Given the description of an element on the screen output the (x, y) to click on. 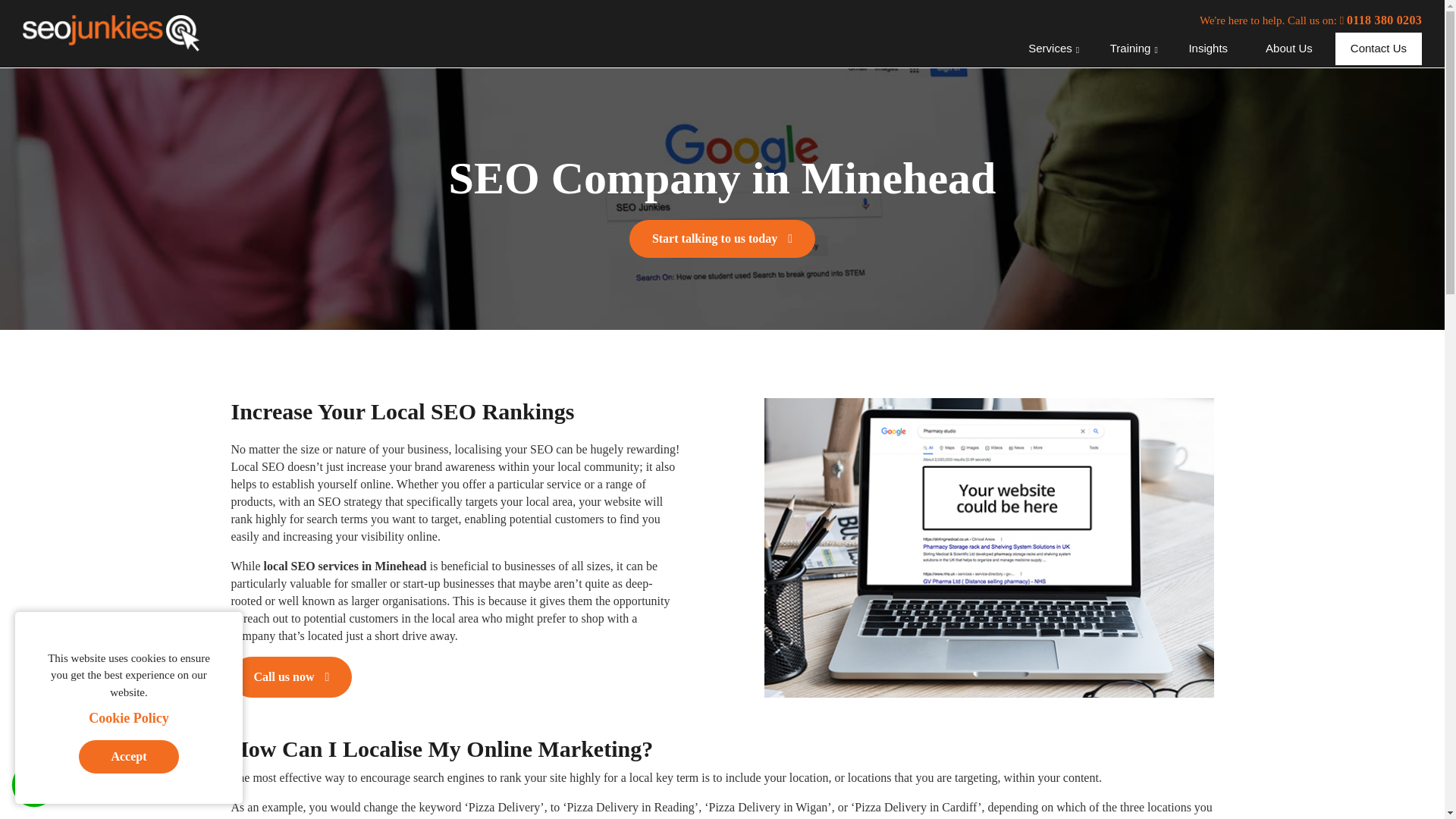
Start talking to us today (721, 238)
Cookie Policy (128, 718)
whatsapp (33, 784)
Insights (1208, 48)
About Us (1288, 48)
0118 380 0203 (1380, 20)
Contact Us (1378, 48)
Call us now (291, 676)
